Given the description of an element on the screen output the (x, y) to click on. 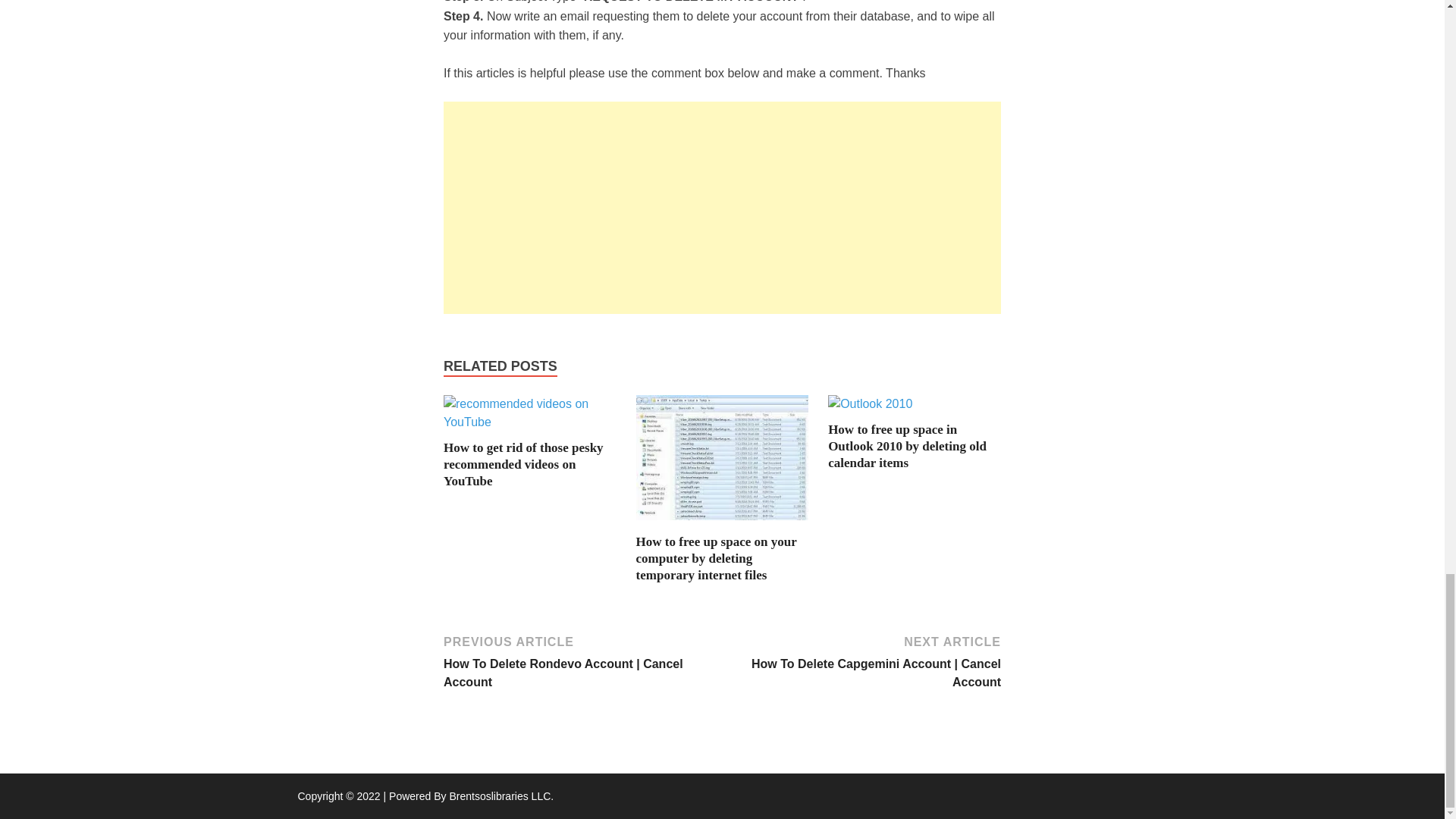
How to get rid of those pesky recommended videos on YouTube (524, 464)
How to get rid of those pesky recommended videos on YouTube (524, 464)
How to get rid of those pesky recommended videos on YouTube (529, 421)
